Given the description of an element on the screen output the (x, y) to click on. 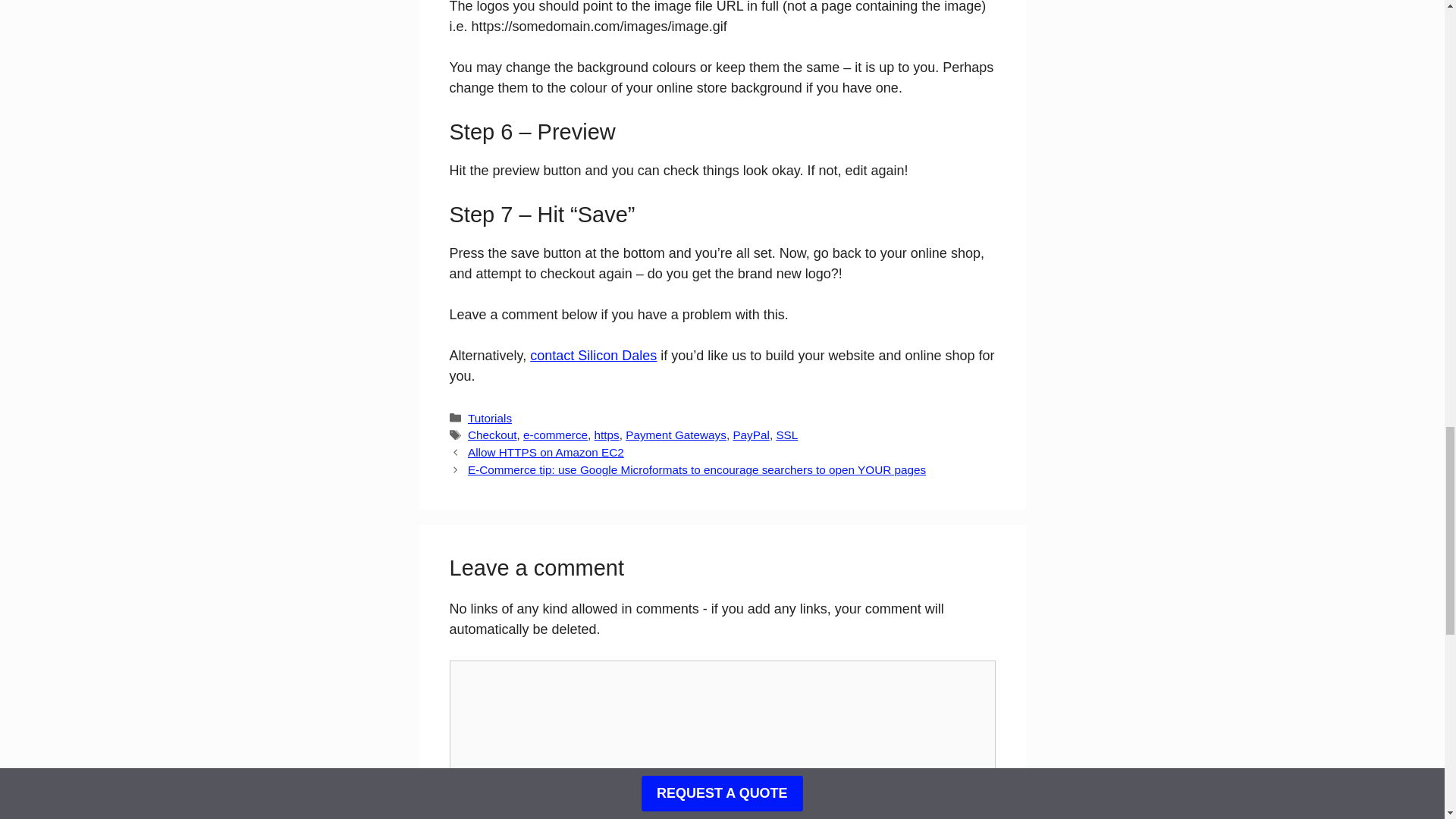
Allow HTTPS on Amazon EC2 (545, 451)
contact Silicon Dales (592, 355)
Payment Gateways (676, 434)
Contact Us (592, 355)
https (607, 434)
e-commerce (555, 434)
Tutorials (489, 417)
SSL (786, 434)
Checkout (491, 434)
